Given the description of an element on the screen output the (x, y) to click on. 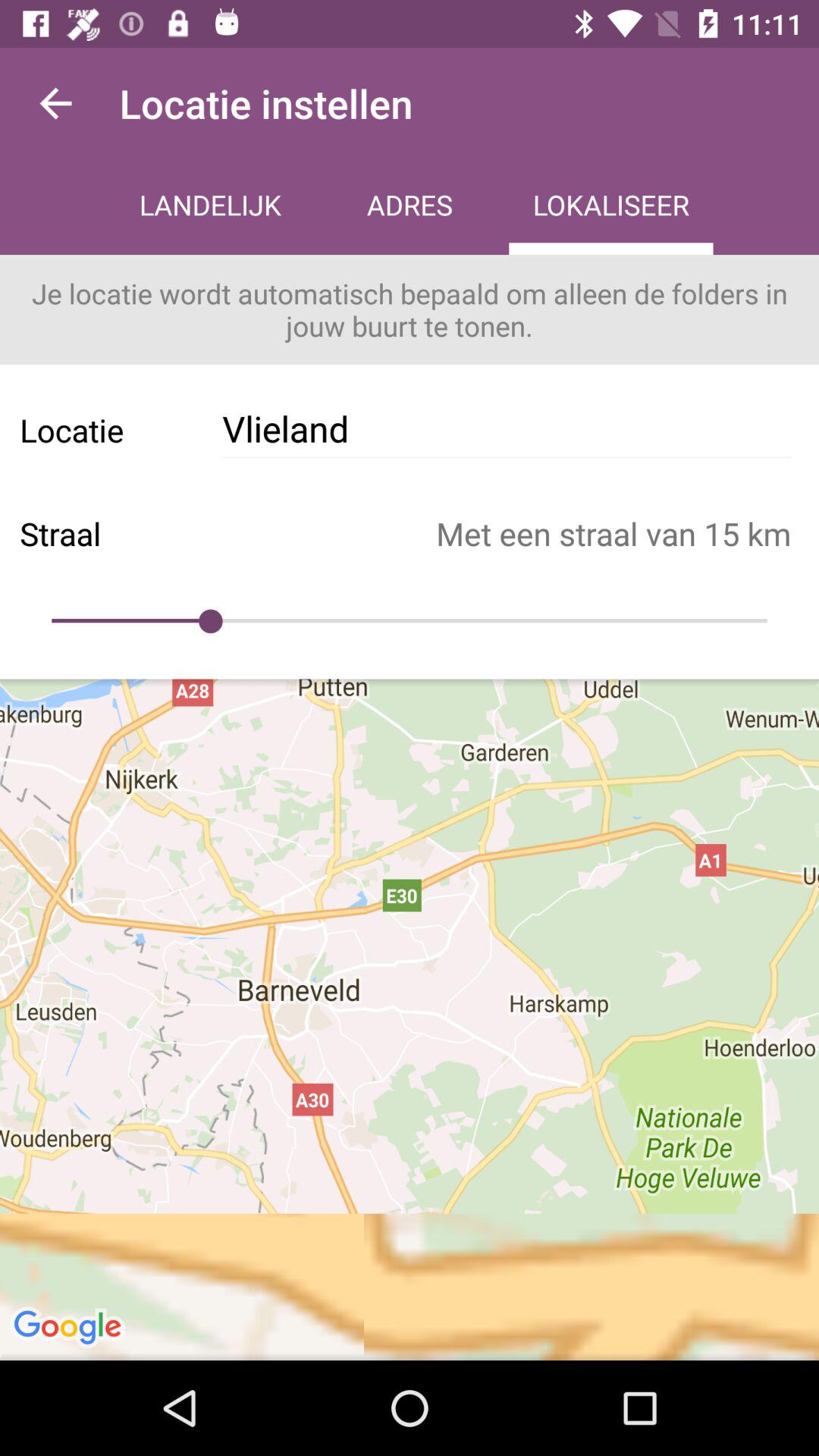
press landelijk icon (209, 206)
